Given the description of an element on the screen output the (x, y) to click on. 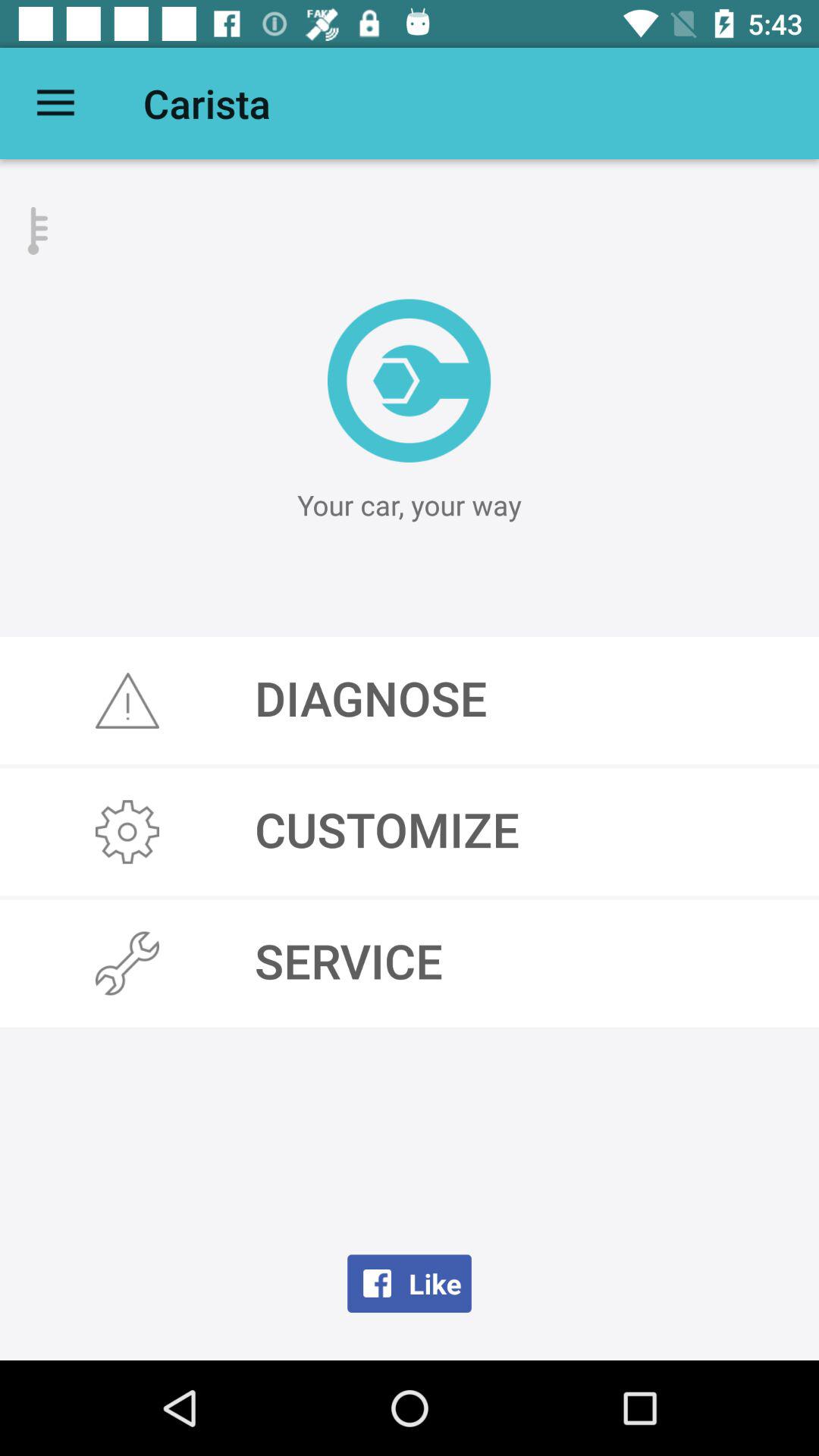
open item above the service (409, 831)
